Given the description of an element on the screen output the (x, y) to click on. 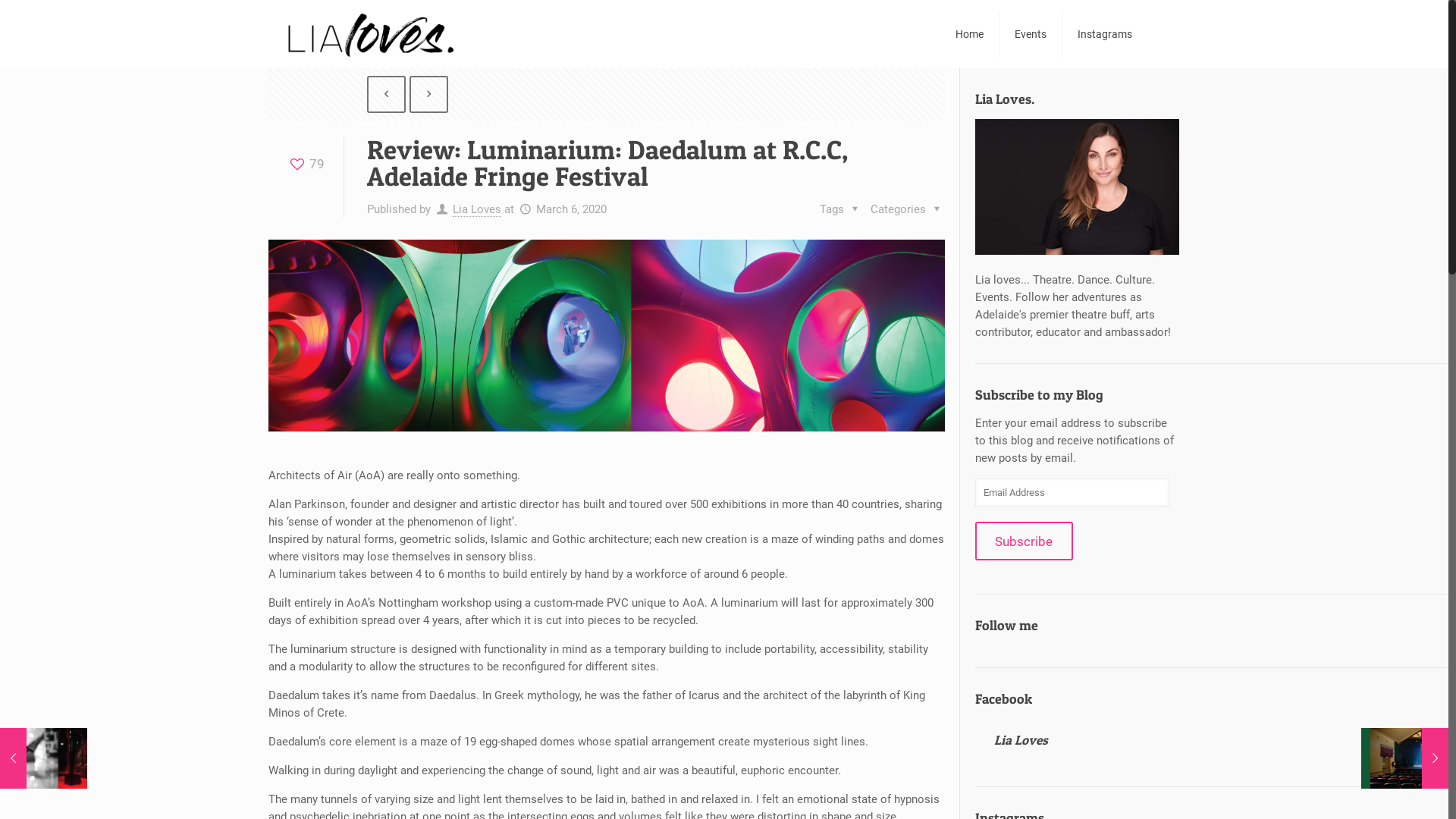
Instagrams Element type: text (1104, 34)
Events Element type: text (1030, 34)
79 Element type: text (306, 163)
Home Element type: text (969, 34)
Subscribe Element type: text (1024, 540)
Lia Loves Element type: text (476, 209)
Lia Loves Element type: text (1021, 739)
